Given the description of an element on the screen output the (x, y) to click on. 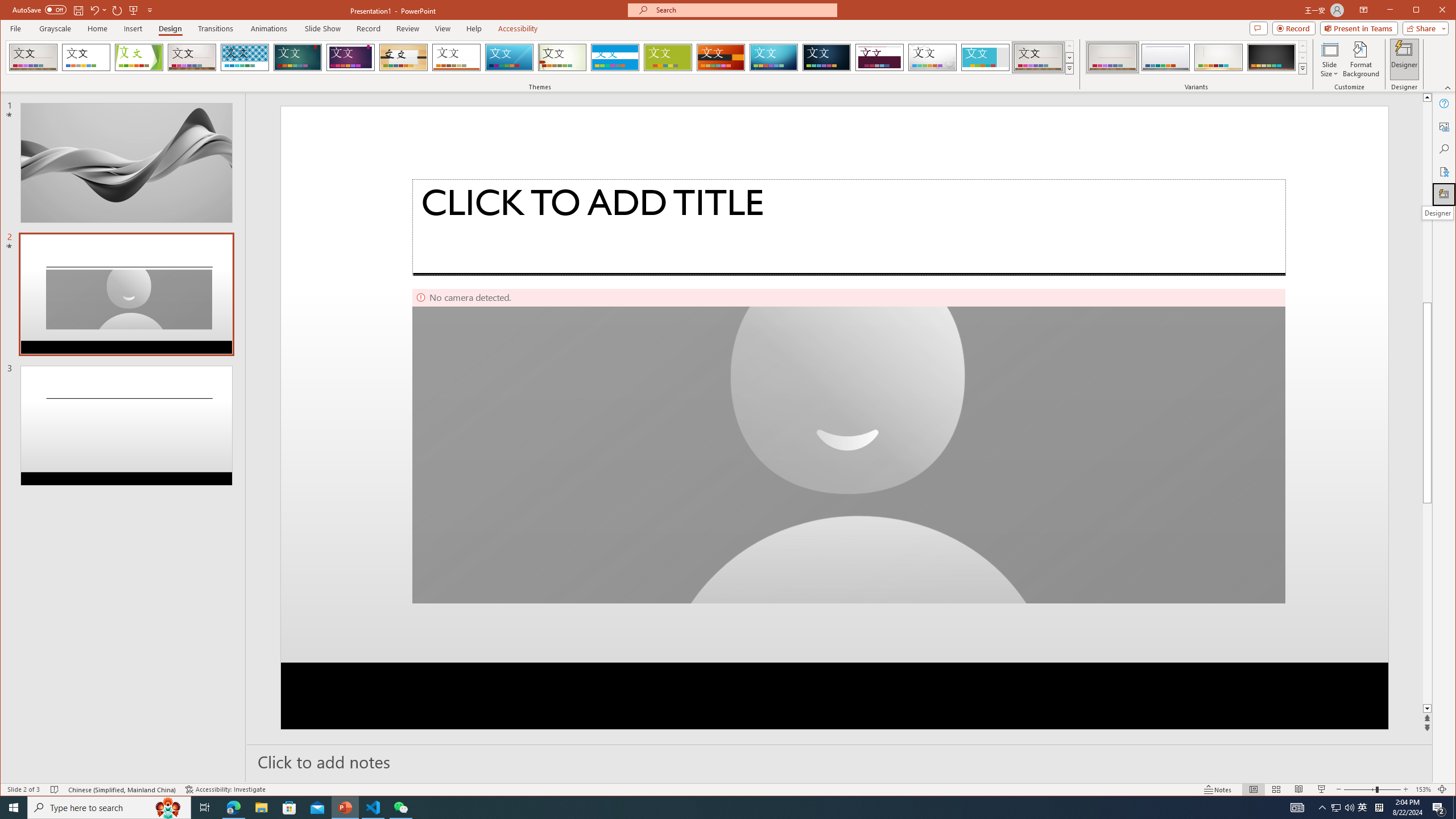
Facet (138, 57)
Droplet (932, 57)
Dividend (879, 57)
Running applications (707, 807)
Gallery Variant 3 (1218, 57)
Format Background (1360, 59)
Gallery Variant 4 (1270, 57)
